Given the description of an element on the screen output the (x, y) to click on. 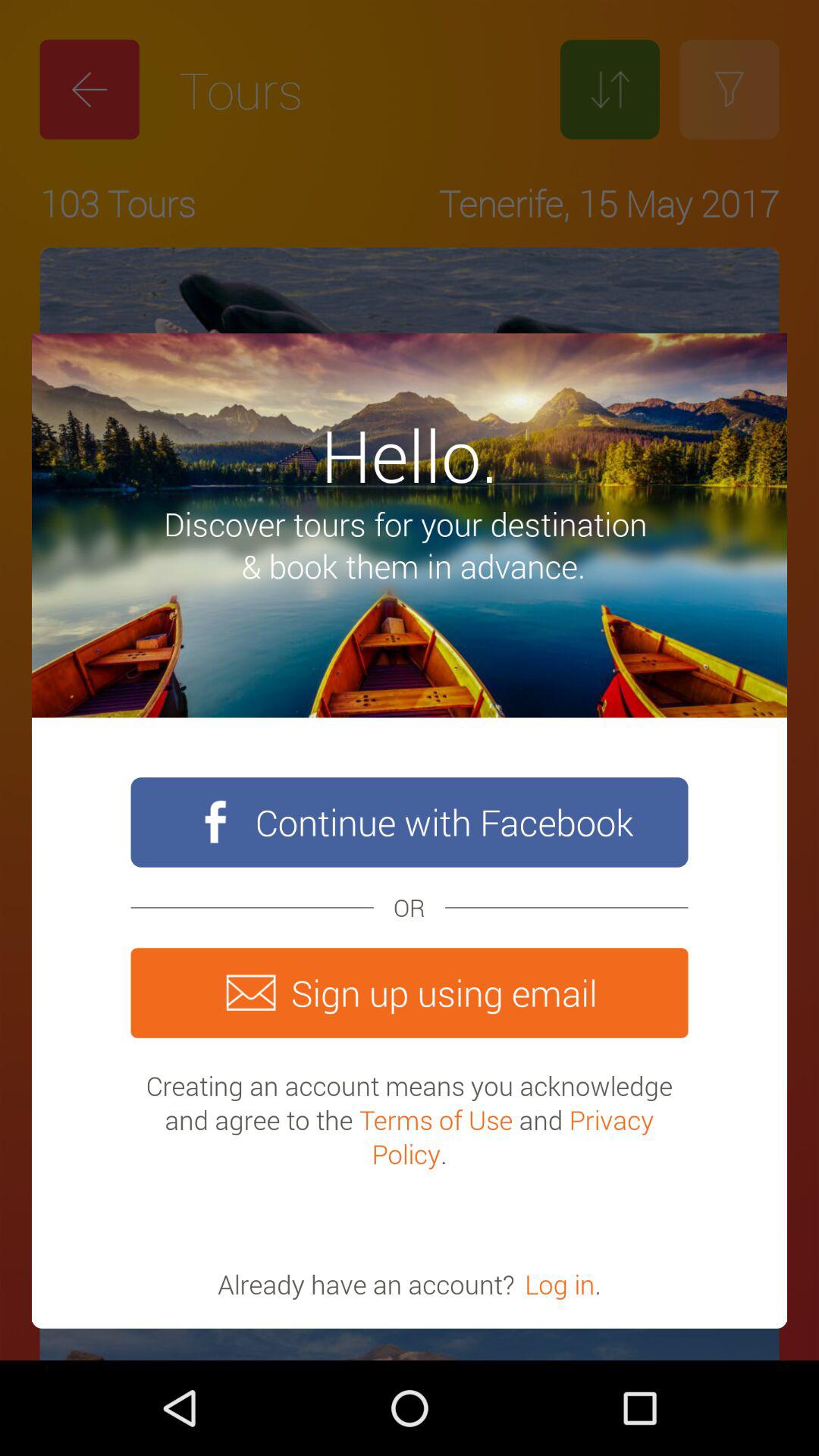
launch item below creating an account item (559, 1283)
